Given the description of an element on the screen output the (x, y) to click on. 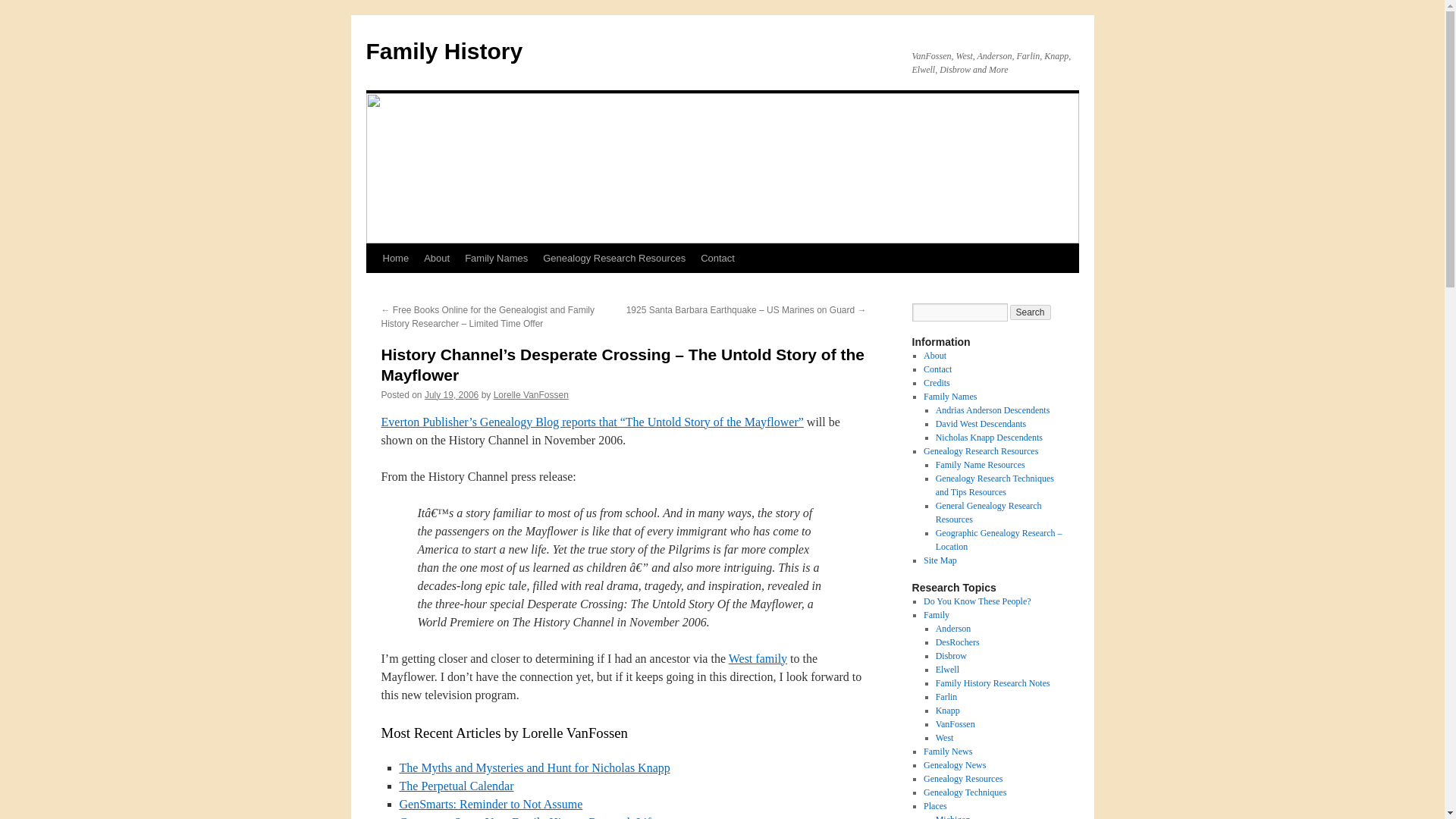
Contact (717, 258)
About (436, 258)
July 19, 2006 (452, 394)
Lorelle VanFossen (531, 394)
Genealogy Research Resources (614, 258)
West family (758, 658)
Home (395, 258)
West Family (758, 658)
Family History (443, 50)
